Given the description of an element on the screen output the (x, y) to click on. 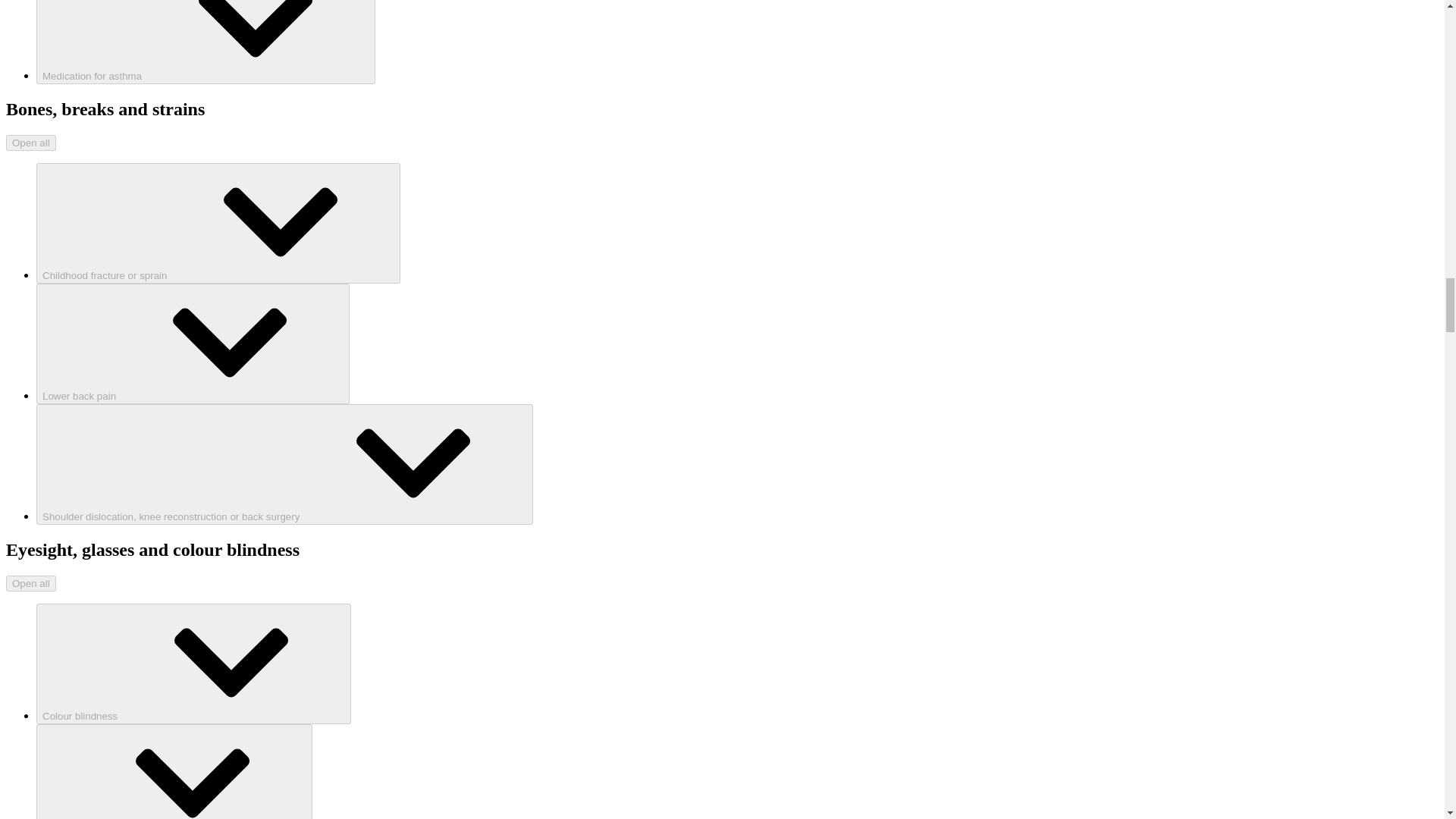
Open all (30, 583)
Medication for asthma (205, 42)
Colour blindness (193, 663)
Lower back pain (192, 343)
Shoulder dislocation, knee reconstruction or back surgery (284, 464)
Childhood fracture or sprain (218, 222)
Open all (30, 142)
Glasses (174, 771)
